Given the description of an element on the screen output the (x, y) to click on. 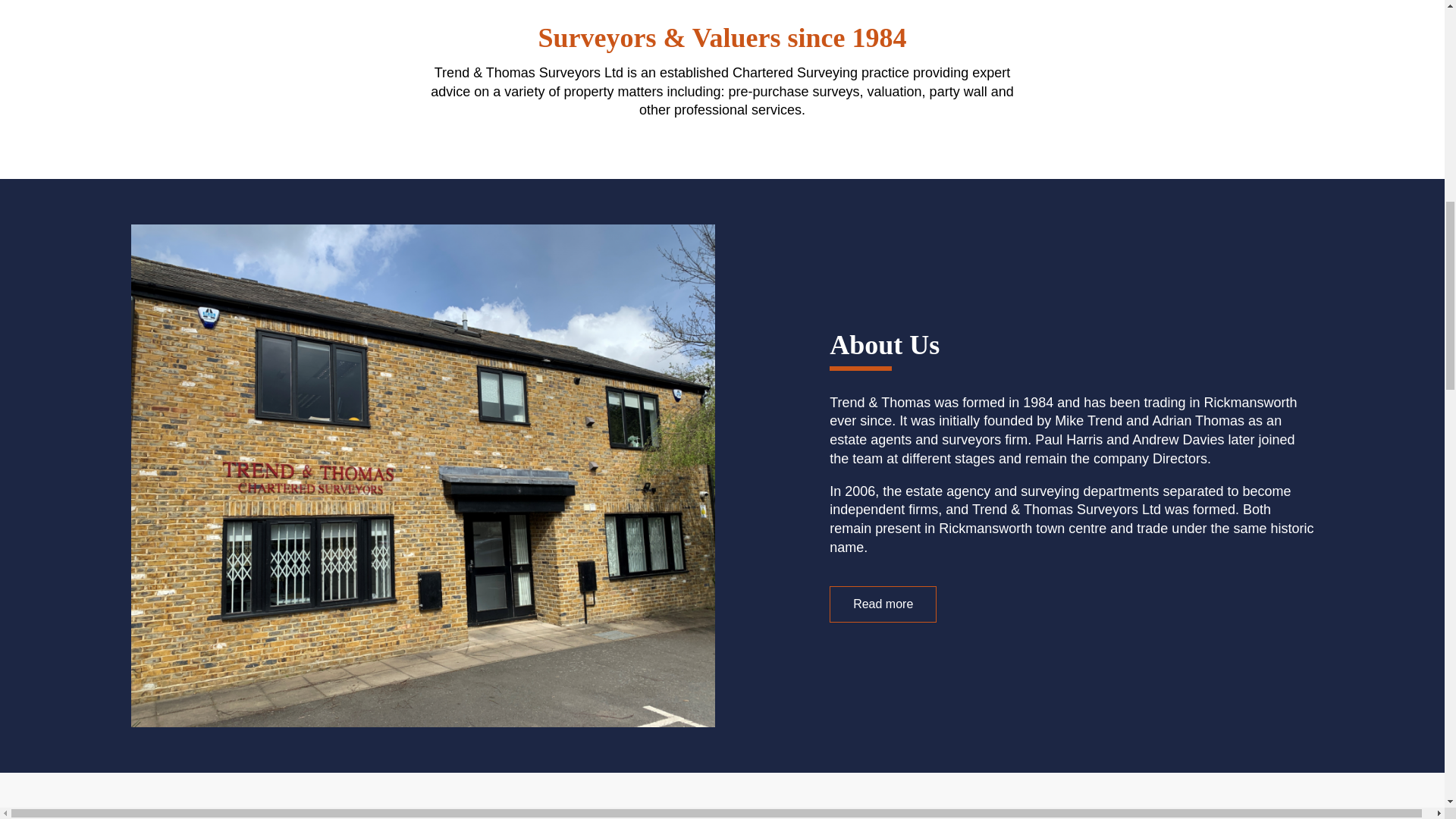
Read more (882, 604)
